Given the description of an element on the screen output the (x, y) to click on. 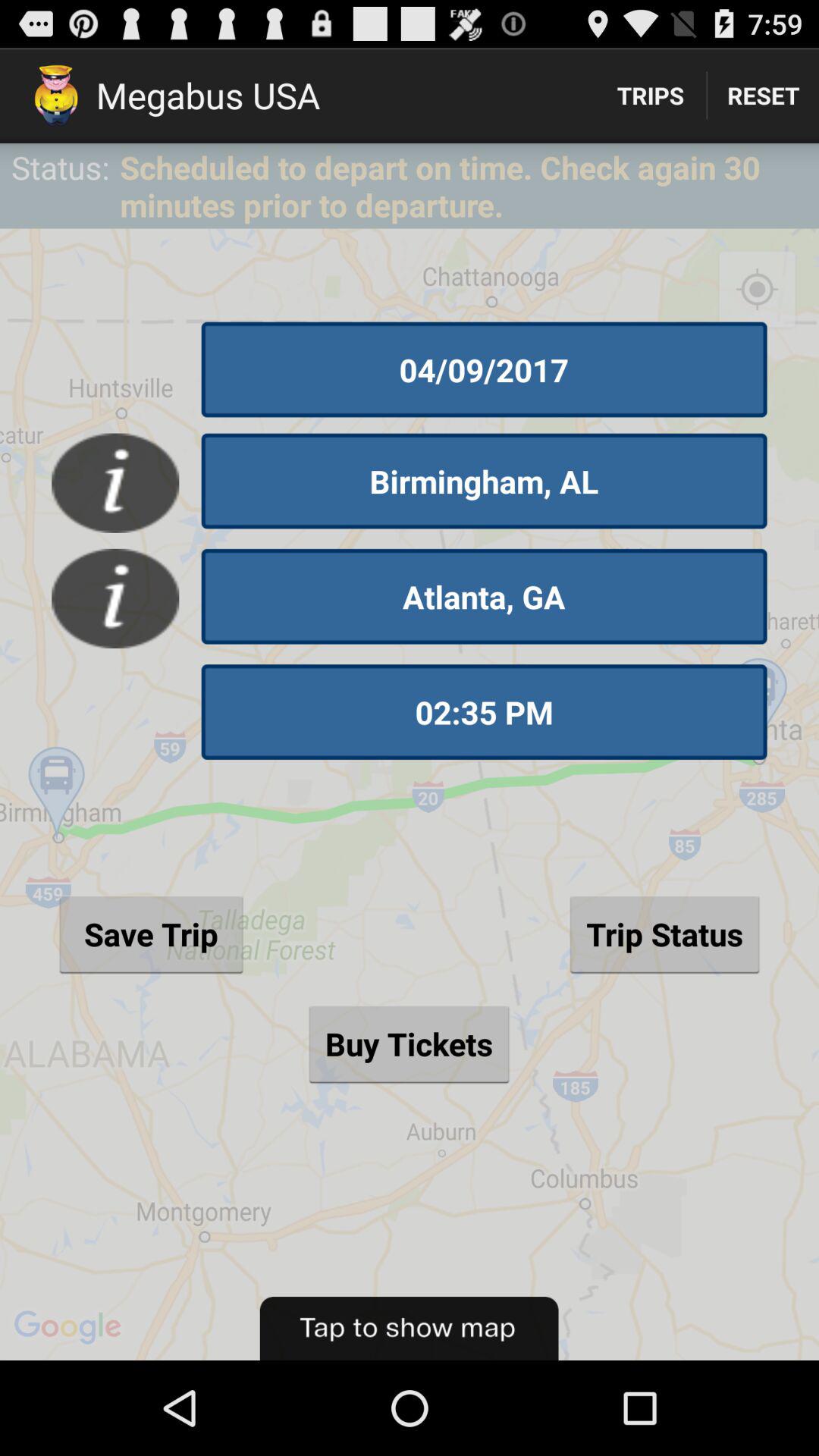
select the icon next to the reset icon (650, 95)
